Given the description of an element on the screen output the (x, y) to click on. 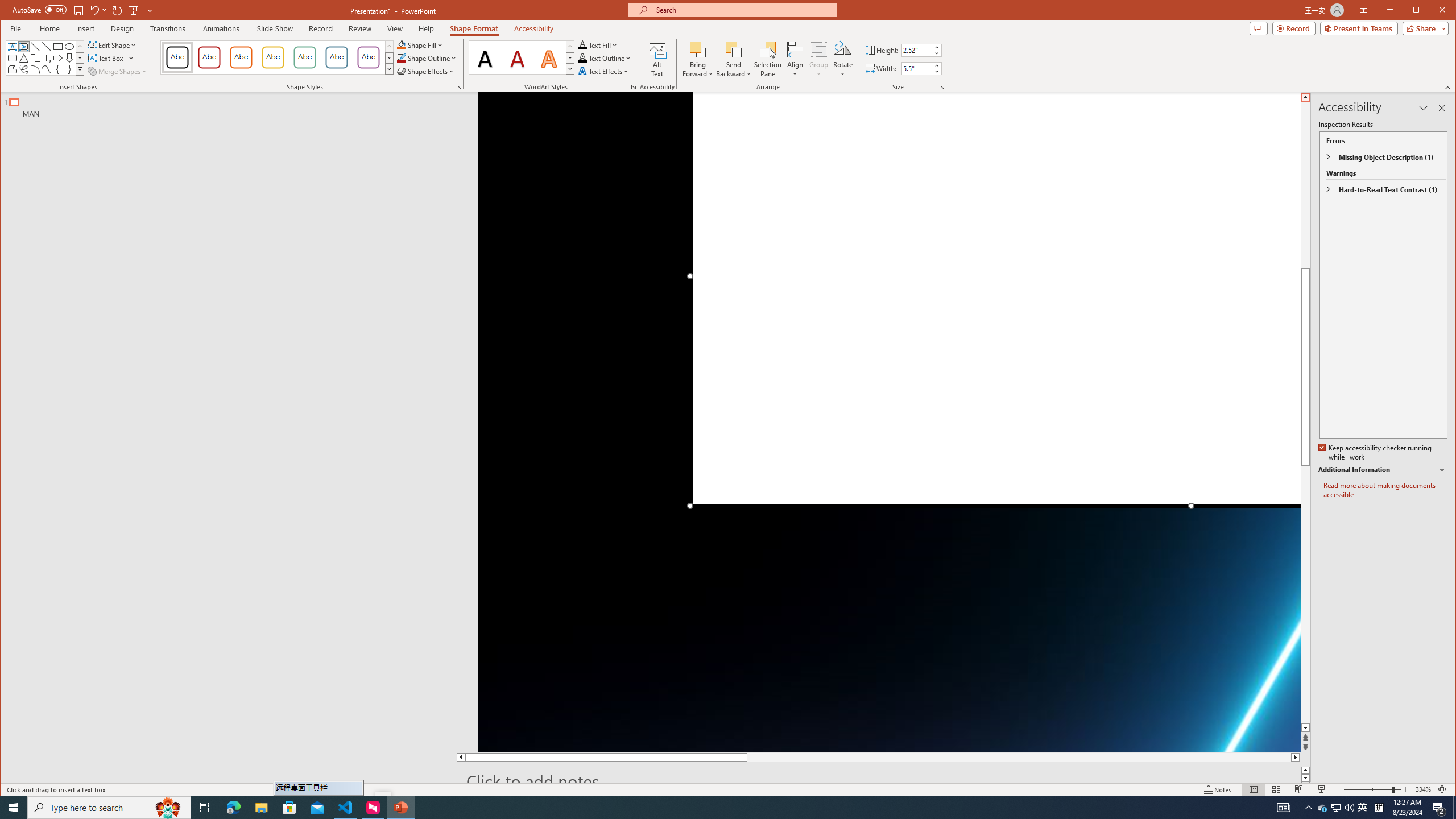
Shape Width (916, 68)
Text Outline RGB(0, 0, 0) (582, 57)
Colored Outline - Black, Dark 1 (177, 57)
Group (818, 59)
Text Effects (603, 70)
Keep accessibility checker running while I work (1375, 452)
Colored Outline - Orange, Accent 2 (241, 57)
